Given the description of an element on the screen output the (x, y) to click on. 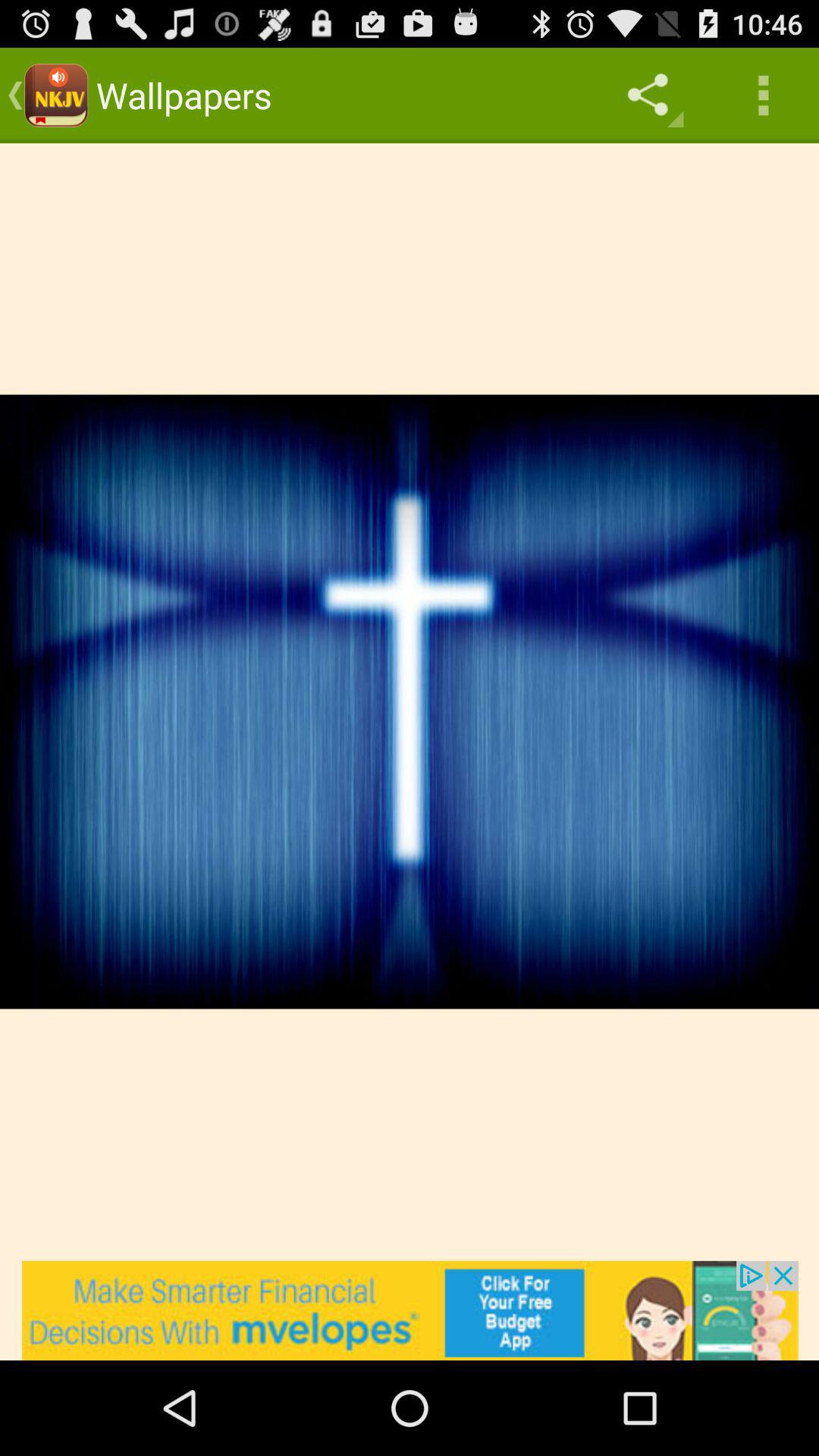
share the article (409, 1310)
